Given the description of an element on the screen output the (x, y) to click on. 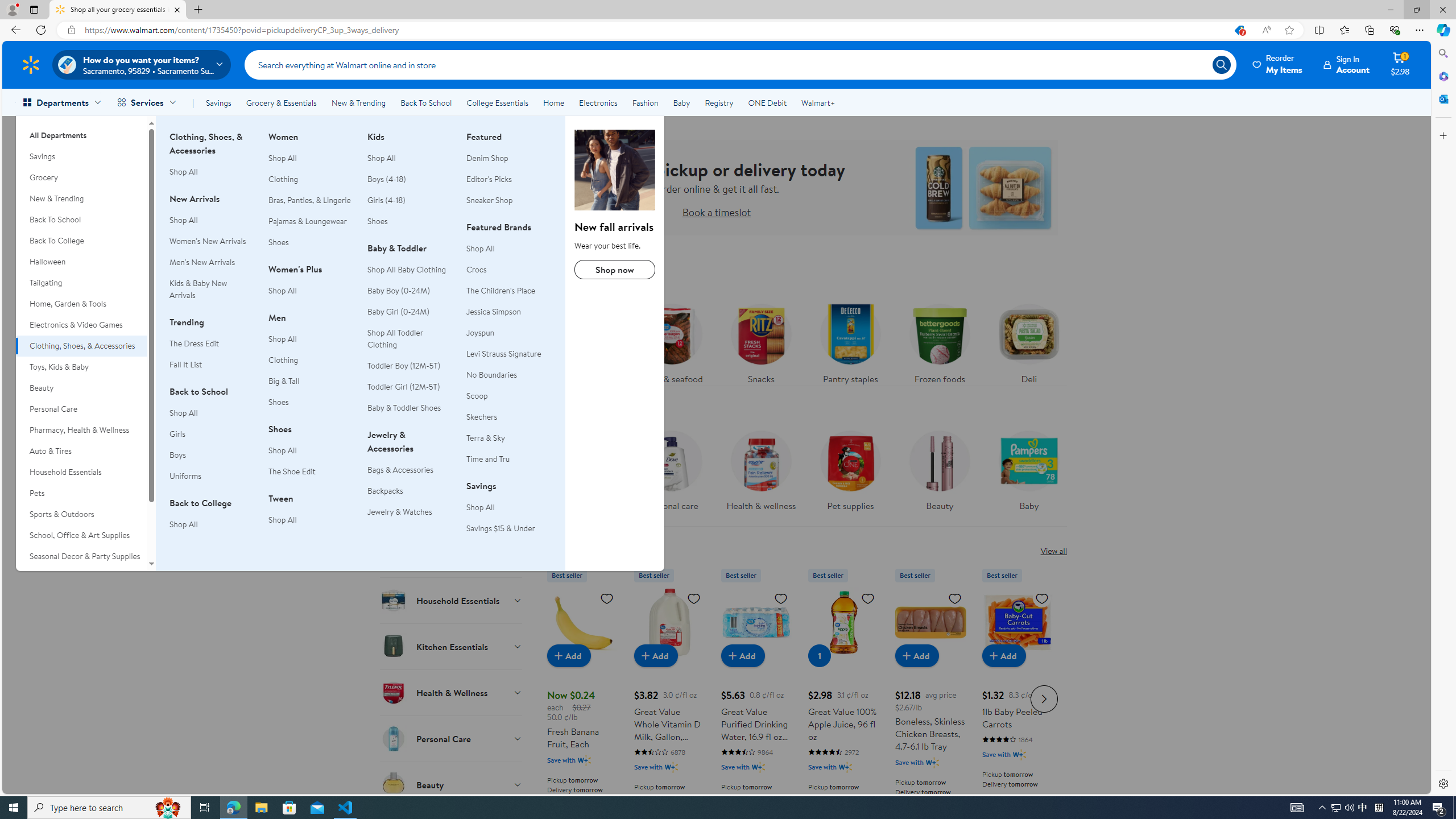
Women's New Arrivals (211, 241)
Savings $15 & Under (500, 527)
Jewelry & Watches (399, 511)
Scoop (476, 395)
Denim Shop (486, 157)
Scoop (508, 395)
Bras, Panties, & Lingerie (308, 199)
Sneaker Shop (508, 200)
Shop All (480, 506)
